Given the description of an element on the screen output the (x, y) to click on. 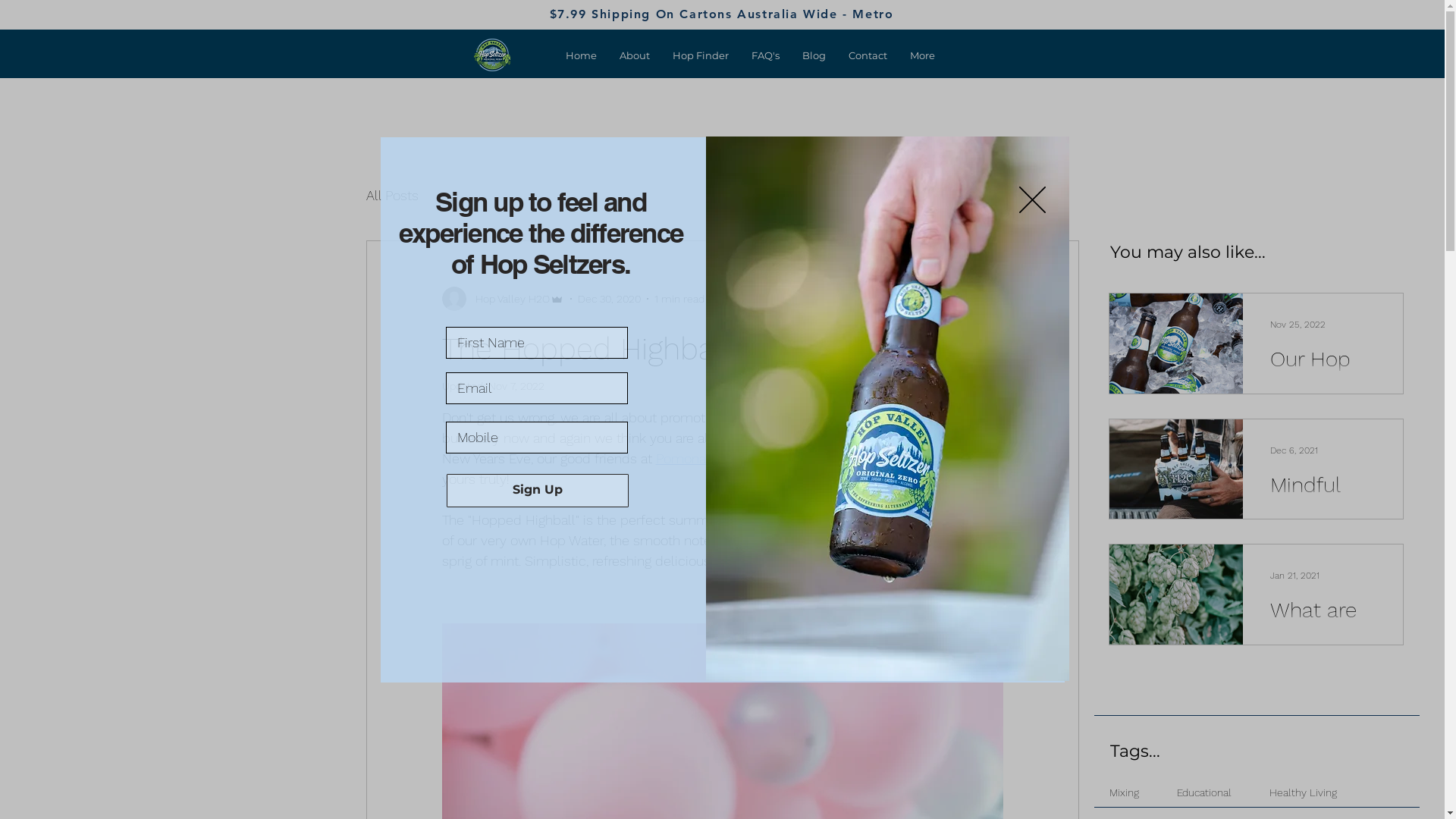
Mindful Drinking is here to stay. Element type: text (1321, 513)
What are Hops? | The Hop Valley FAQs Element type: text (1321, 639)
Educational Element type: text (1203, 791)
Blog Element type: text (813, 55)
Back to site Element type: hover (1032, 199)
Mixing Element type: text (1123, 791)
Hop Finder Element type: text (700, 55)
Contact Element type: text (867, 55)
Pomona Distillery Element type: text (708, 458)
Our Hop Valley Seltzer takes on a refreshing new look! Element type: text (1321, 388)
FAQ's Element type: text (765, 55)
Hop Valley H2O Element type: text (502, 298)
Home Element type: text (581, 55)
Sign Up Element type: text (536, 489)
Healthy Living Element type: text (1302, 791)
All Posts Element type: text (391, 194)
About Element type: text (634, 55)
